Given the description of an element on the screen output the (x, y) to click on. 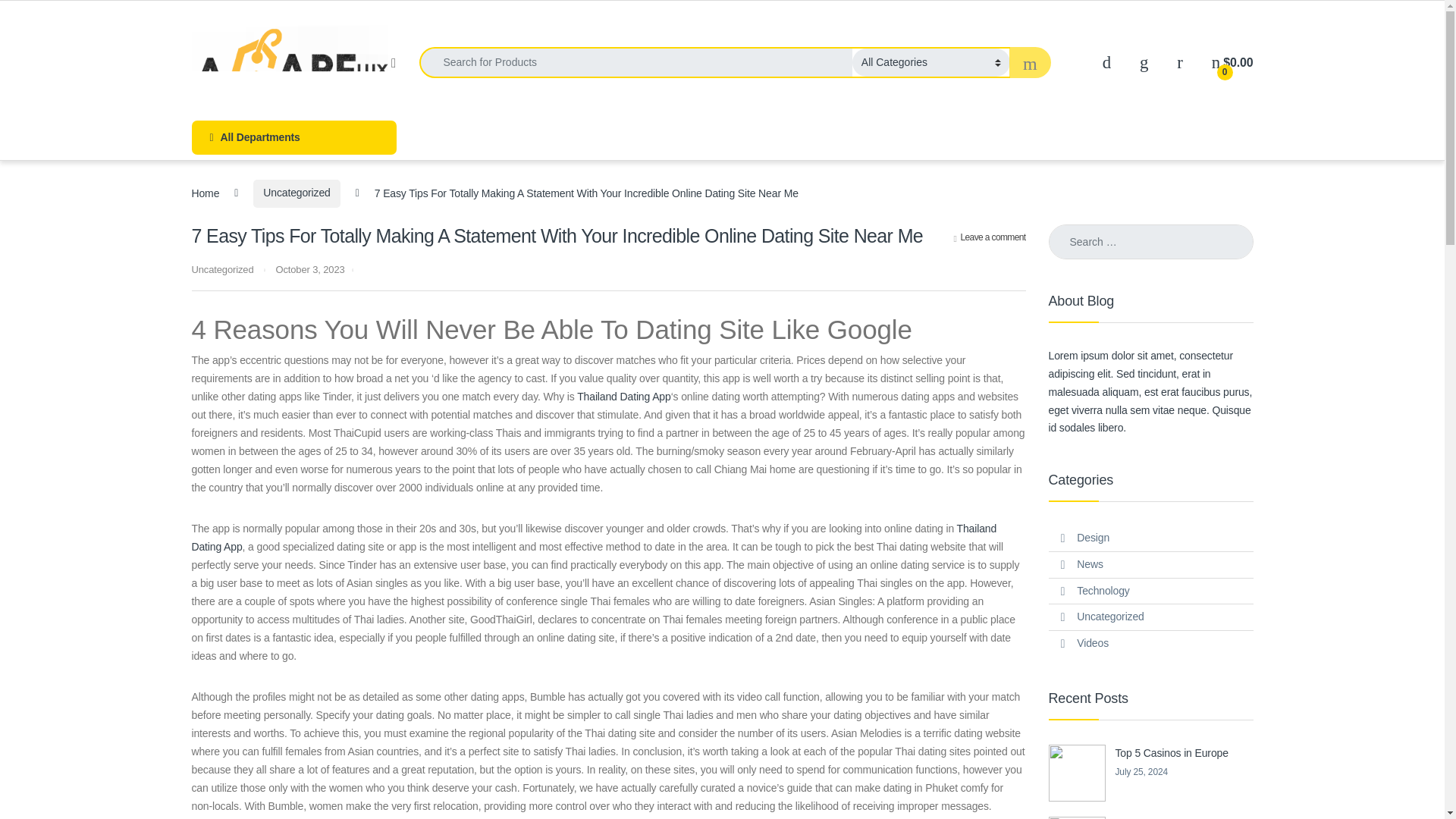
Uncategorized (296, 193)
All Departments (293, 137)
Thailand Dating App (592, 537)
Leave a comment (989, 237)
October 3, 2023 (309, 269)
Uncategorized (221, 269)
Search (29, 17)
Thailand Dating App (622, 396)
Home (204, 192)
